Given the description of an element on the screen output the (x, y) to click on. 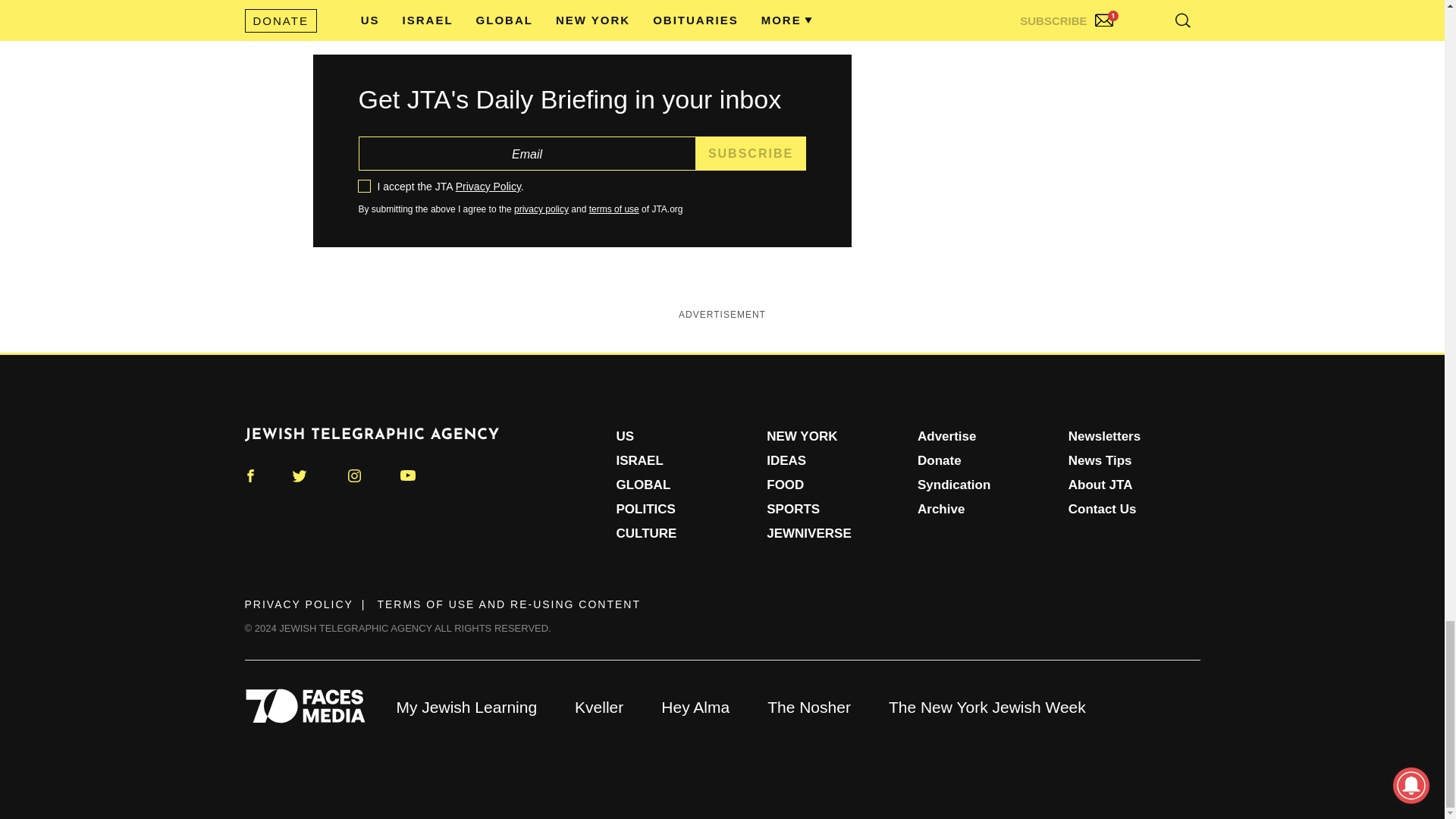
Subscribe (750, 153)
